Given the description of an element on the screen output the (x, y) to click on. 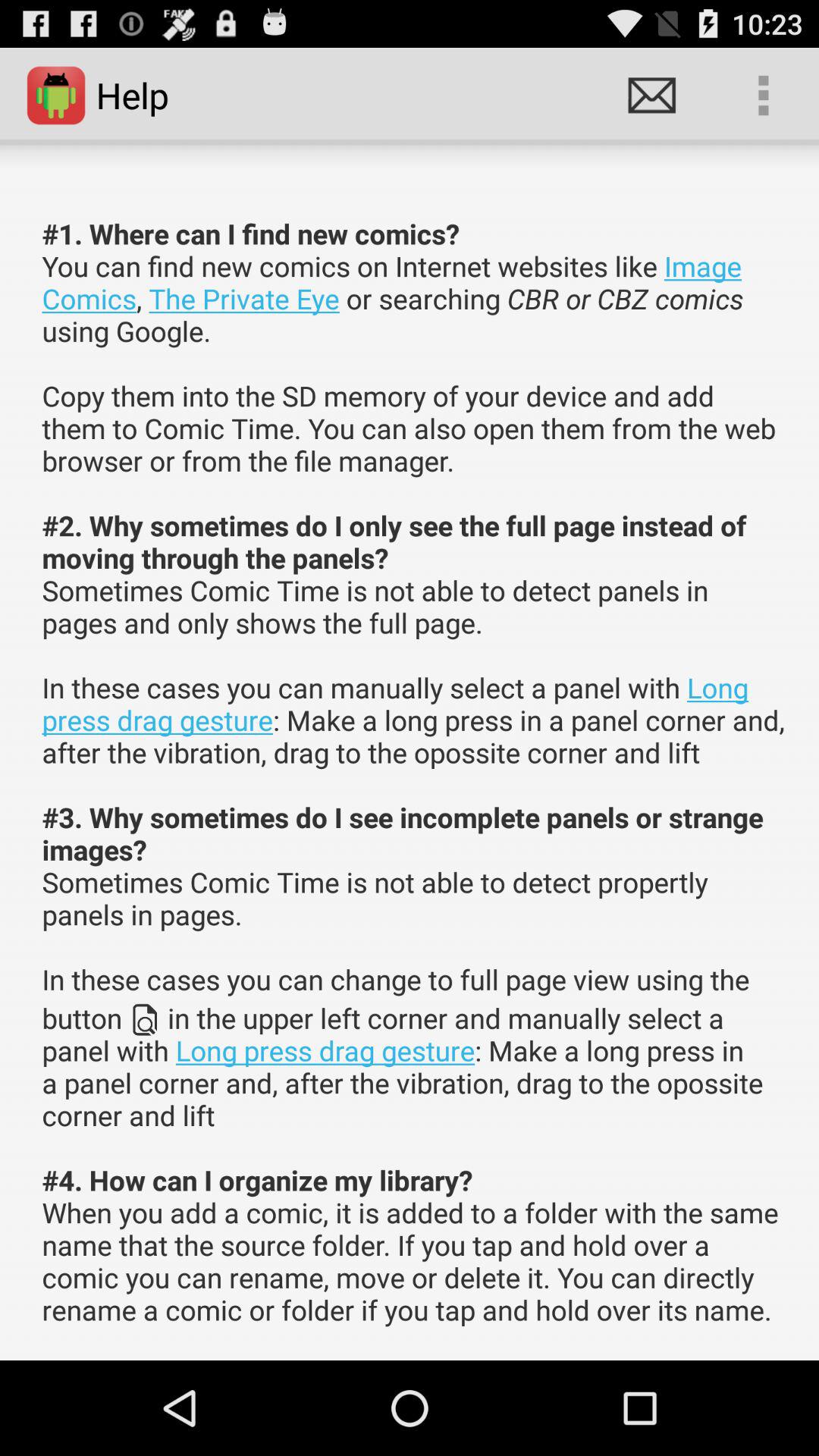
jump to the 1 where can item (414, 771)
